Given the description of an element on the screen output the (x, y) to click on. 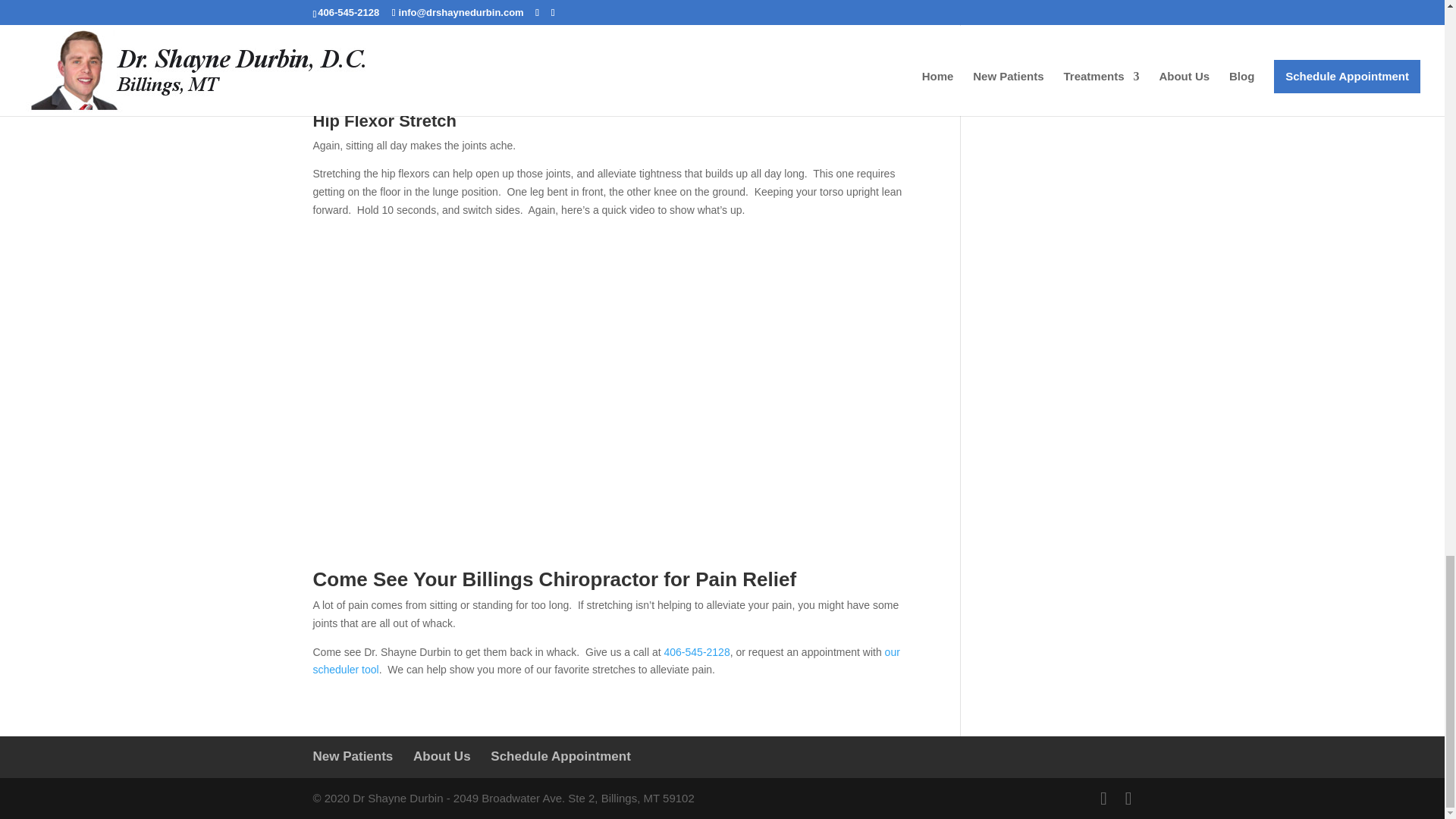
YouTube video player (614, 56)
406-545-2128 (696, 652)
our scheduler tool (606, 661)
